Given the description of an element on the screen output the (x, y) to click on. 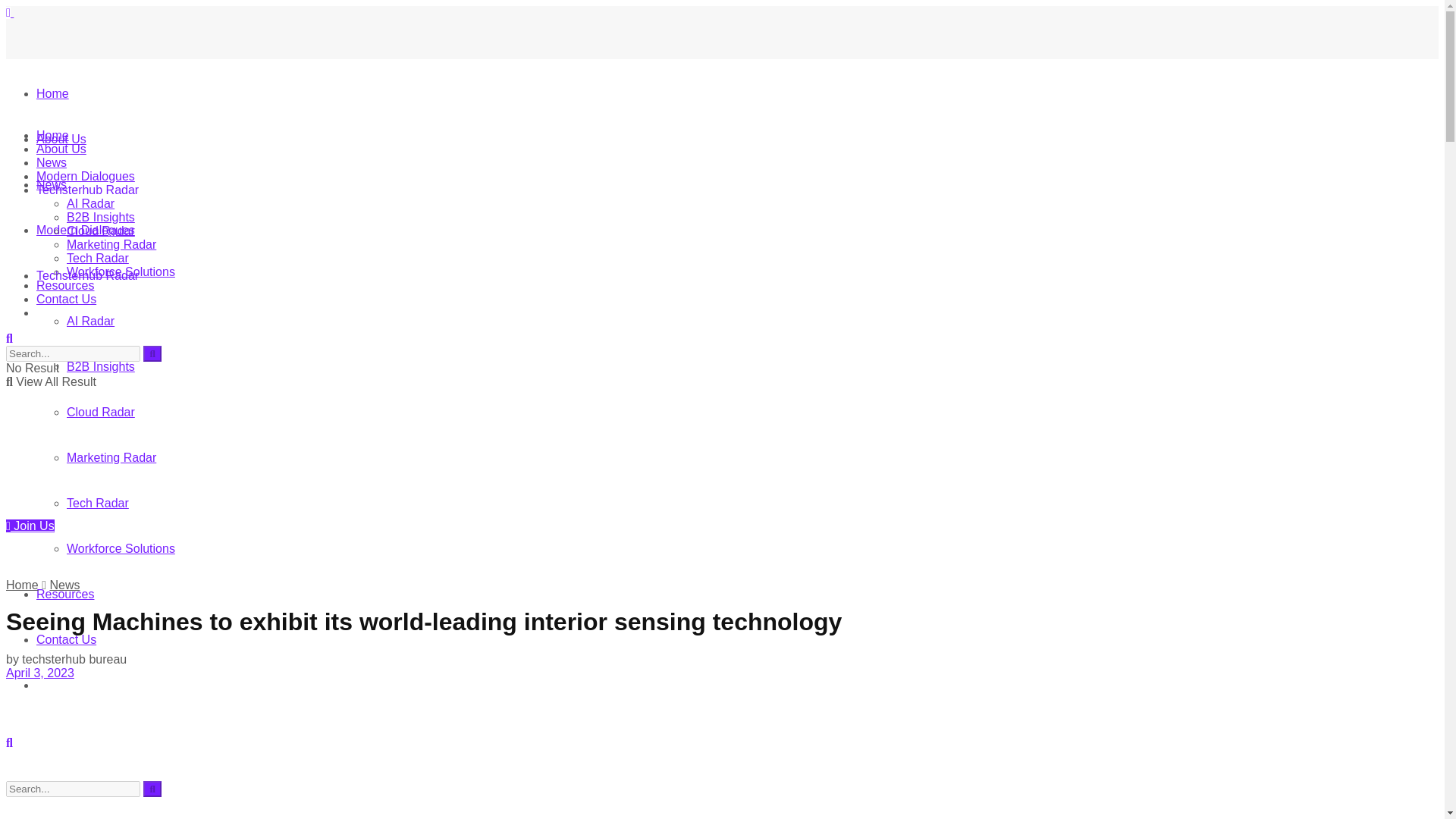
Resources (65, 594)
Contact Us (66, 298)
Modern Dialogues (85, 175)
Workforce Solutions (120, 271)
Marketing Radar (110, 457)
Modern Dialogues (85, 229)
Workforce Solutions (120, 548)
techsterhub bureau (73, 658)
Marketing Radar (110, 244)
B2B Insights (100, 366)
